Given the description of an element on the screen output the (x, y) to click on. 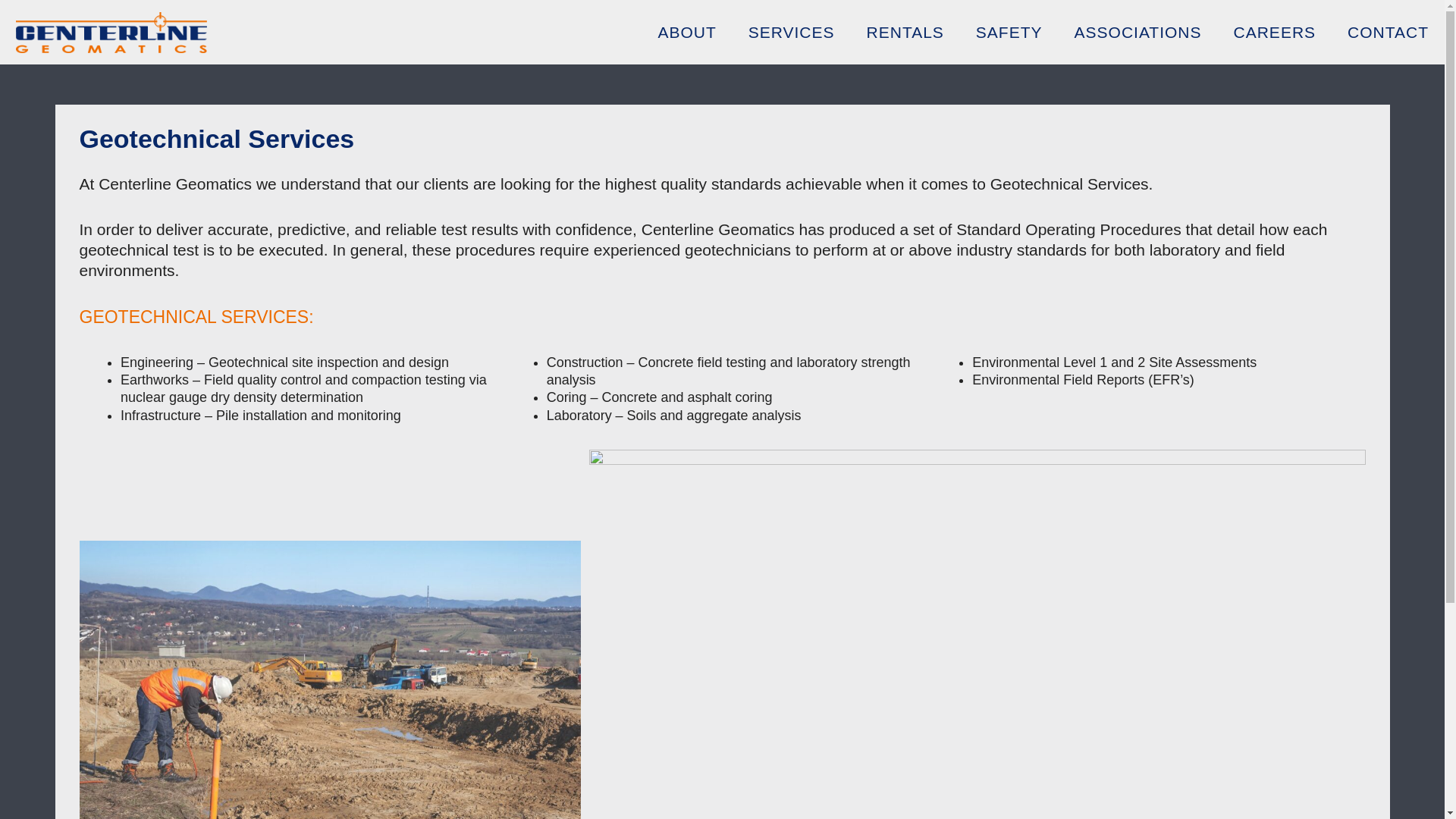
SAFETY (1008, 32)
ABOUT (687, 32)
Centerline Geomatics (67, 57)
RENTALS (904, 32)
ASSOCIATIONS (1137, 32)
SERVICES (791, 32)
CAREERS (1274, 32)
